Given the description of an element on the screen output the (x, y) to click on. 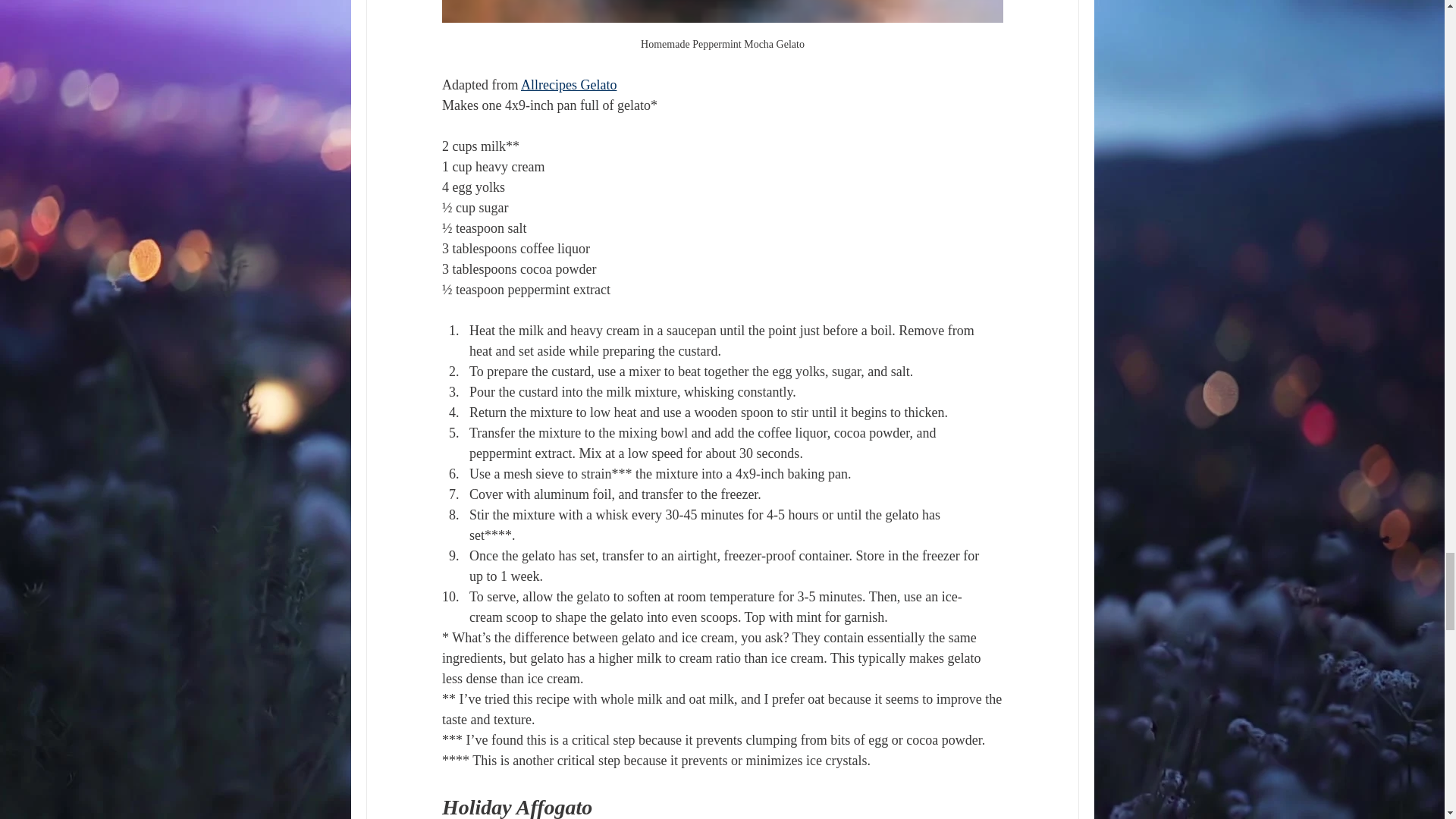
Allrecipes Gelato (567, 84)
